Given the description of an element on the screen output the (x, y) to click on. 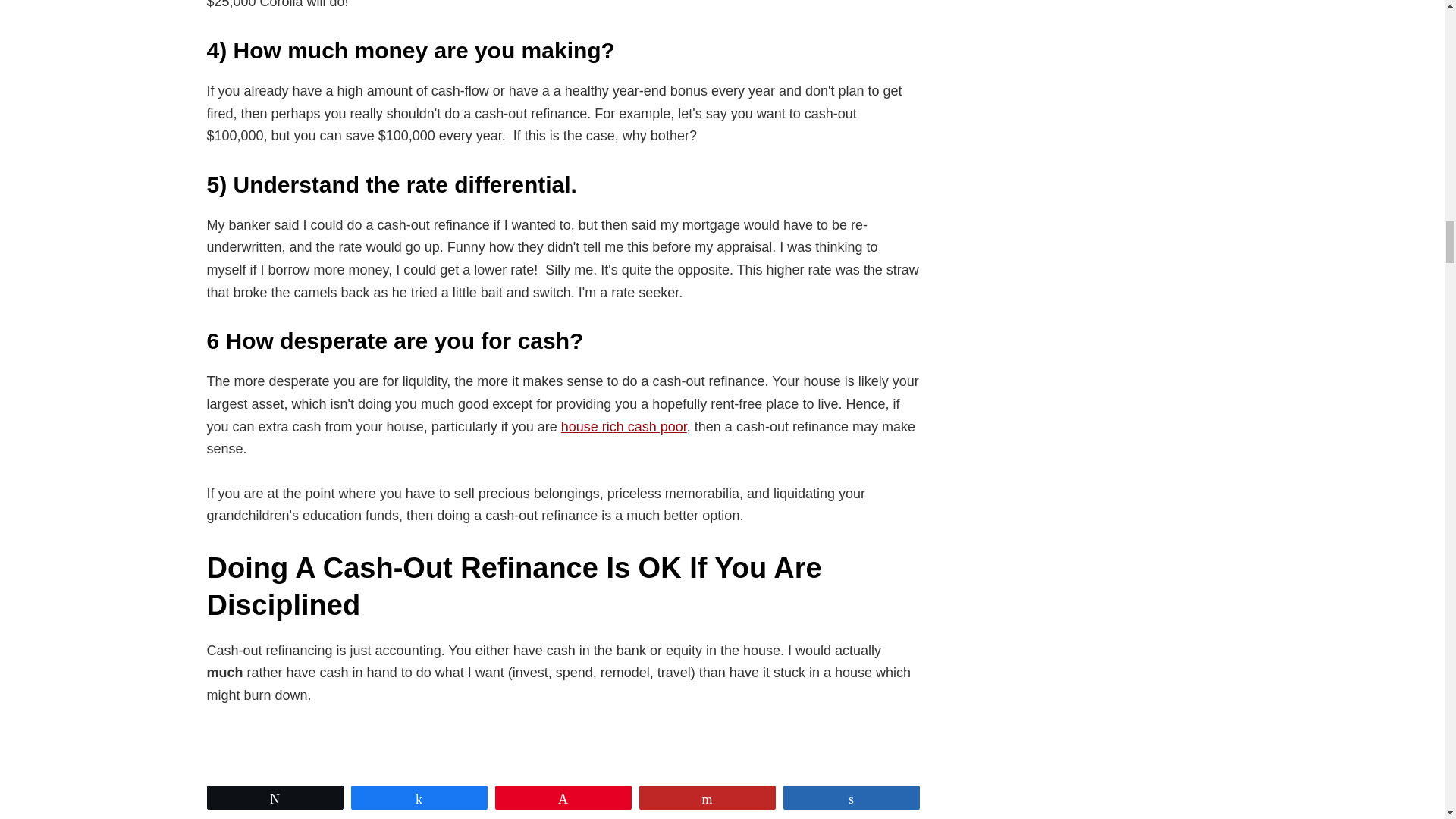
house rich cash poor (623, 426)
